Given the description of an element on the screen output the (x, y) to click on. 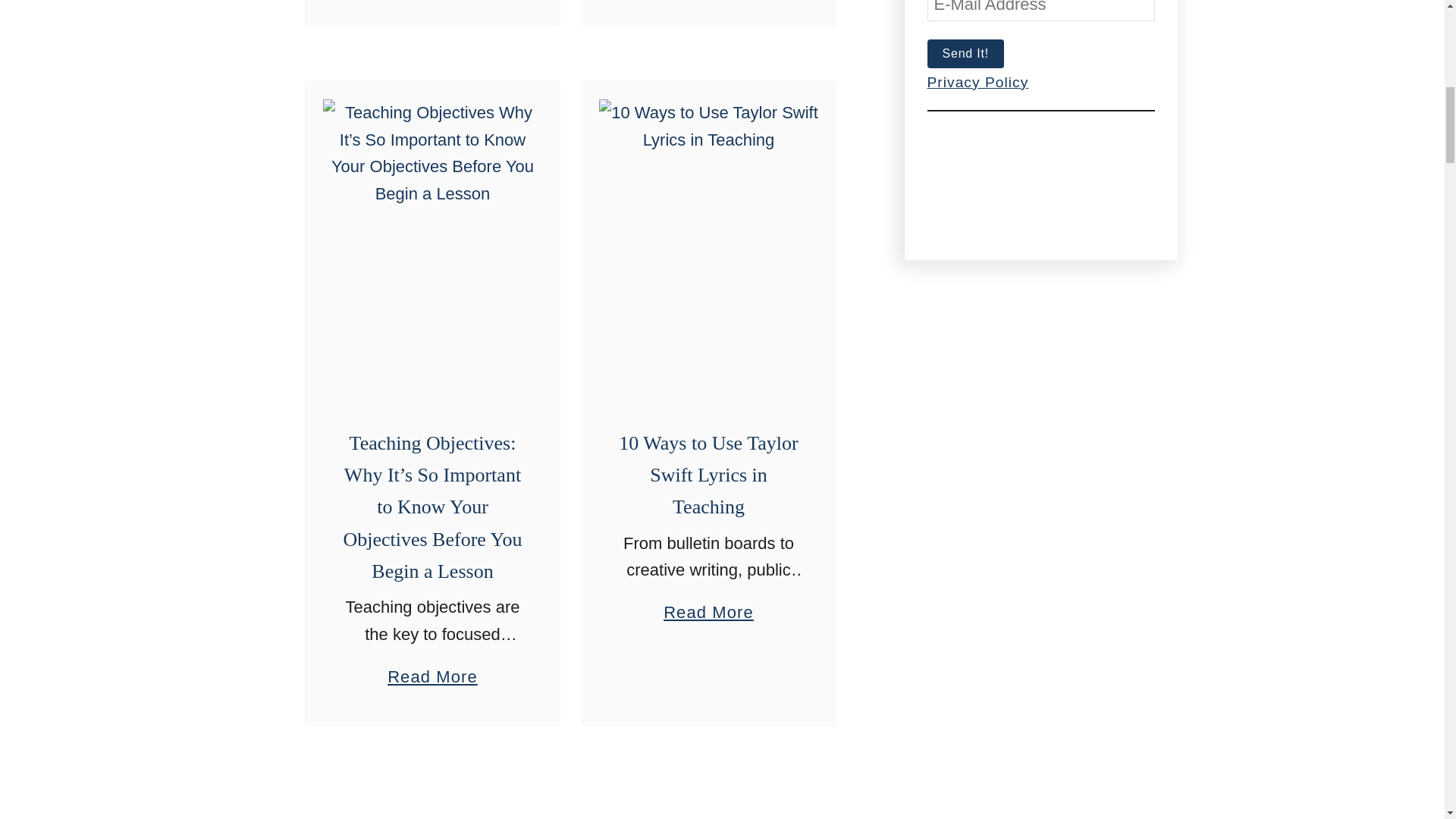
Send It! (965, 53)
10 Ways to Use Taylor Swift Lyrics in Teaching (707, 475)
